Given the description of an element on the screen output the (x, y) to click on. 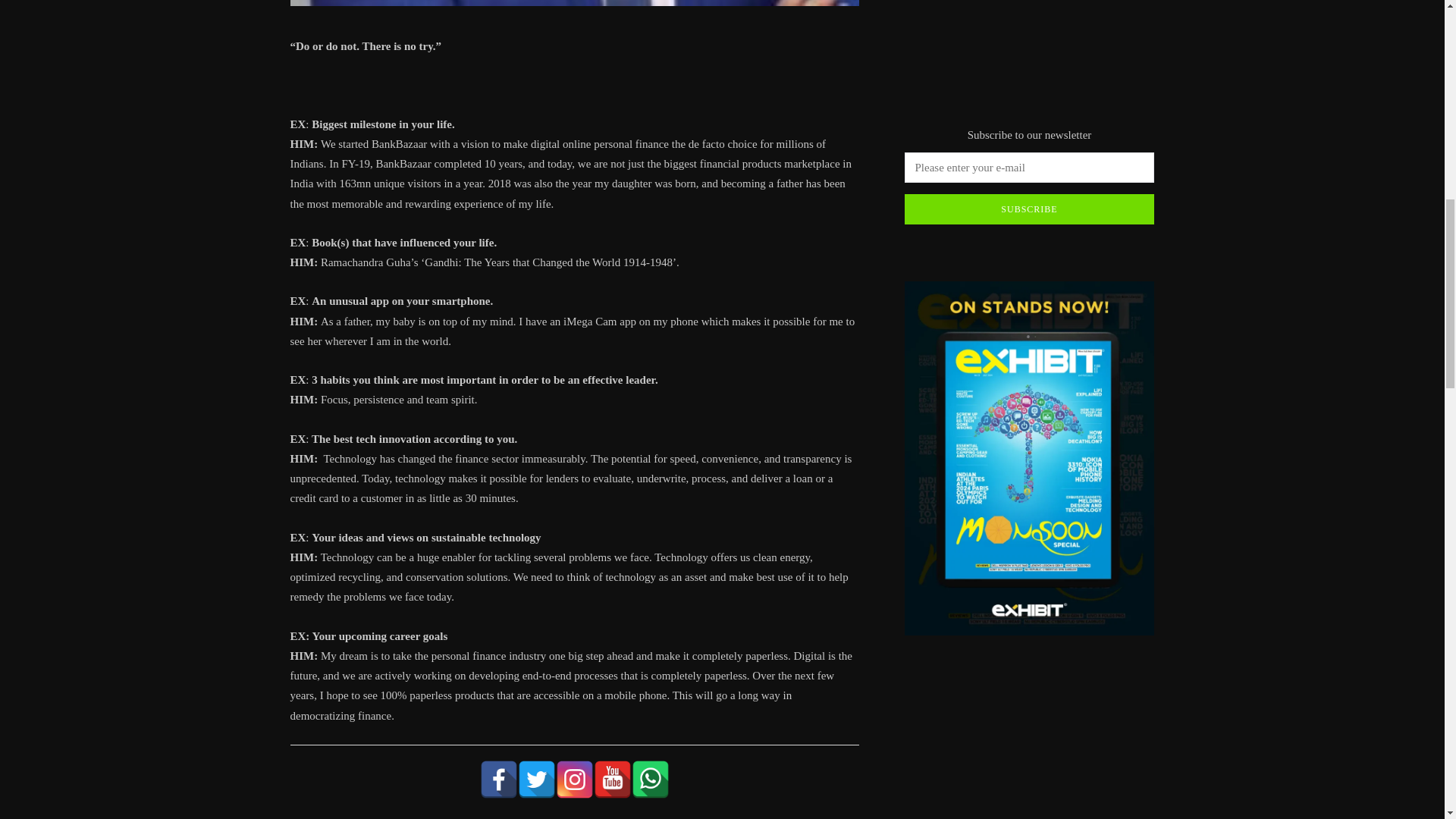
WhatsApp (649, 779)
Instagram (573, 779)
YouTube (611, 779)
Twitter (535, 779)
Facebook (497, 779)
